Given the description of an element on the screen output the (x, y) to click on. 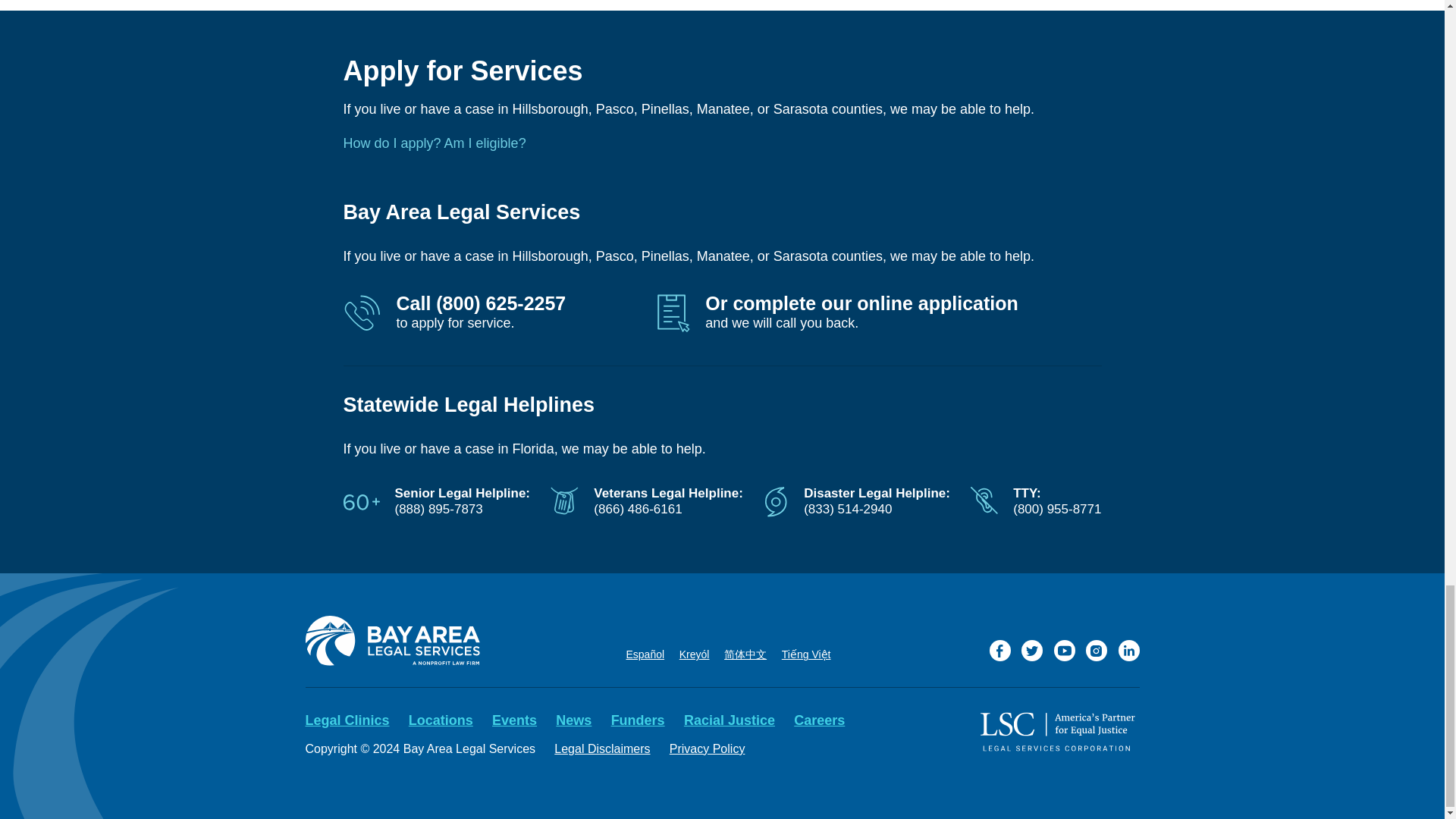
How do I apply? Am I eligible? (433, 142)
How Do I Apply? Am I Eligible? (433, 142)
